Given the description of an element on the screen output the (x, y) to click on. 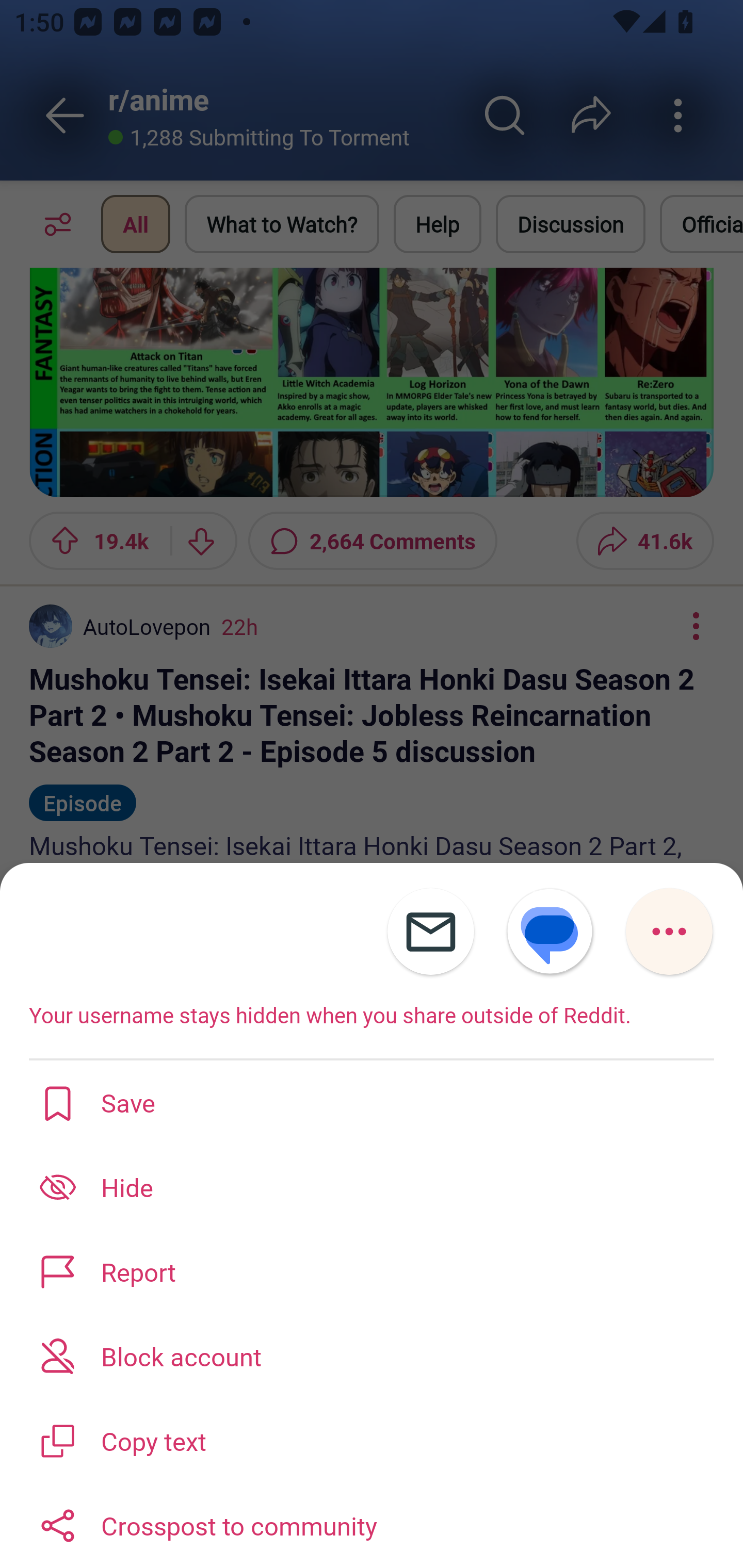
Email (430, 932)
SMS (549, 932)
More (668, 932)
Save (371, 1101)
Hide (371, 1186)
Report (371, 1271)
Block account (371, 1355)
Copy text (371, 1439)
Crosspost to community (371, 1524)
